Given the description of an element on the screen output the (x, y) to click on. 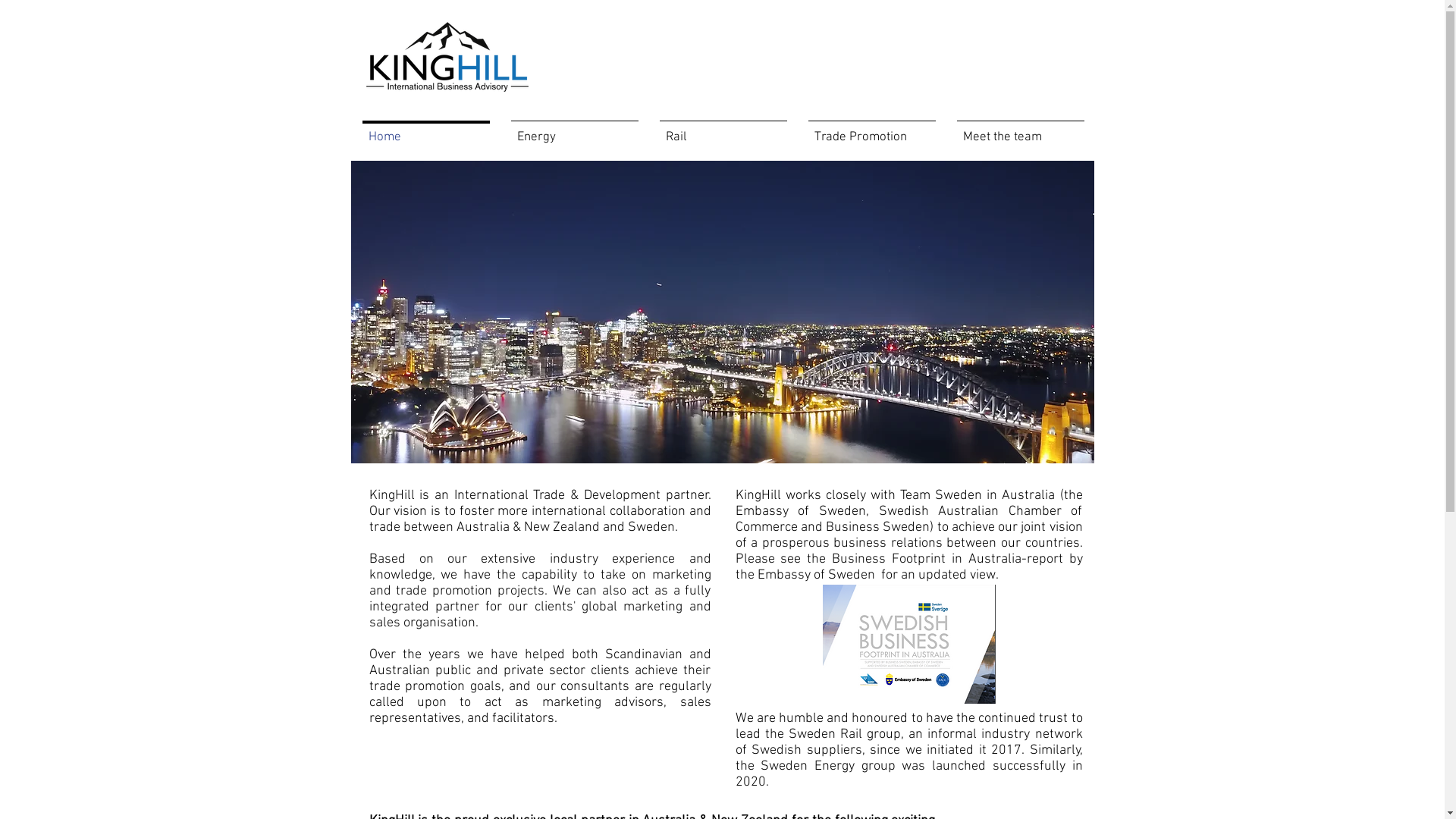
Trade Promotion Element type: text (871, 130)
Home Element type: text (425, 130)
Meet the team Element type: text (1020, 130)
Rail Element type: text (723, 130)
Energy Element type: text (574, 130)
